Given the description of an element on the screen output the (x, y) to click on. 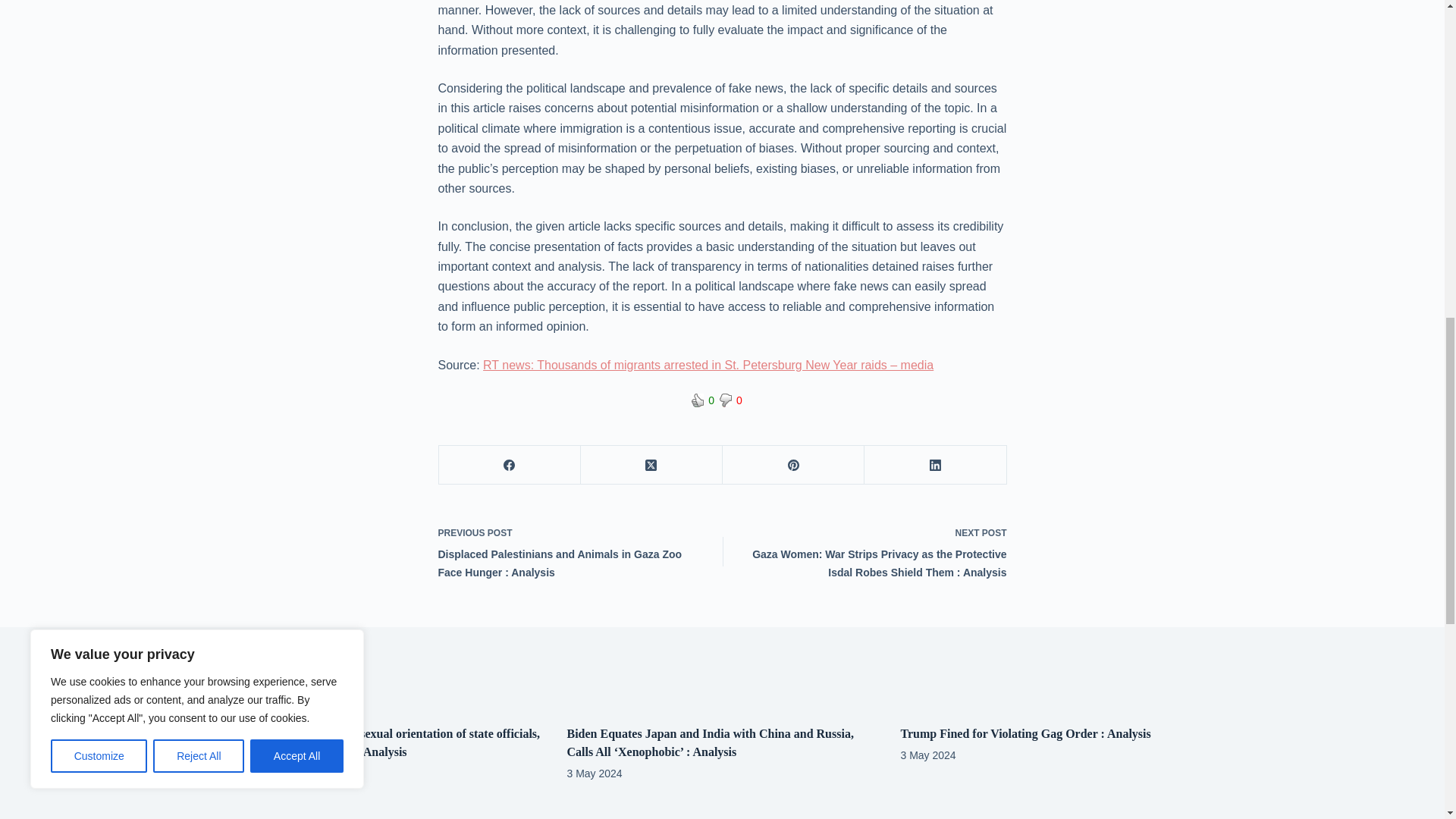
Like (697, 400)
Unlike (725, 400)
